Given the description of an element on the screen output the (x, y) to click on. 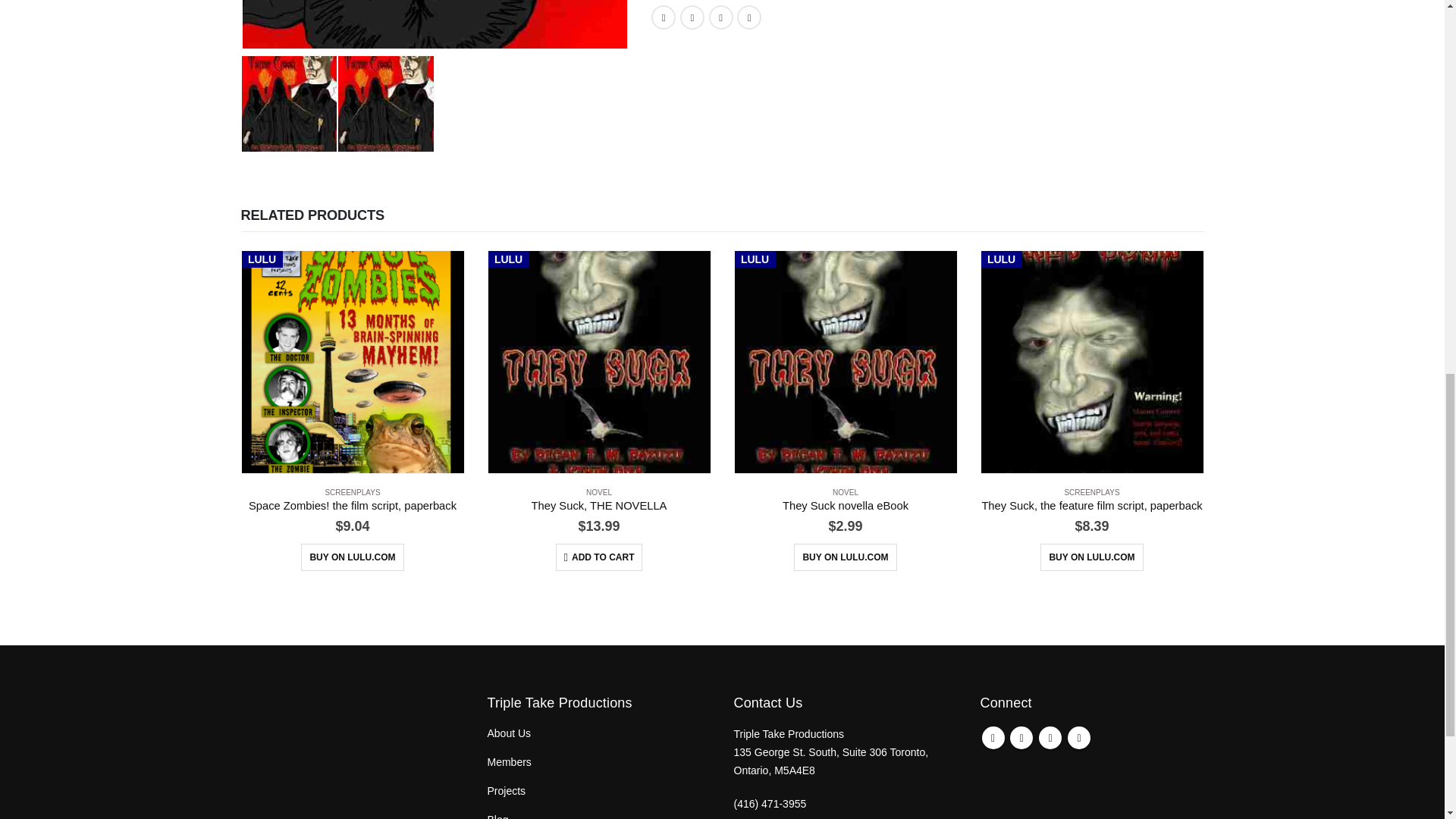
Email (748, 16)
LinkedIn (721, 16)
Twitter (1021, 737)
Youtube (1050, 737)
Twitter (691, 16)
LULU (598, 361)
BUY ON LULU.COM (352, 556)
LinkedIn (721, 16)
SCREENPLAYS (352, 492)
Facebook (662, 16)
NOVEL (598, 492)
Space Zombies! the film script, paperback (352, 506)
Facebook (992, 737)
Facebook (662, 16)
Email (748, 16)
